Given the description of an element on the screen output the (x, y) to click on. 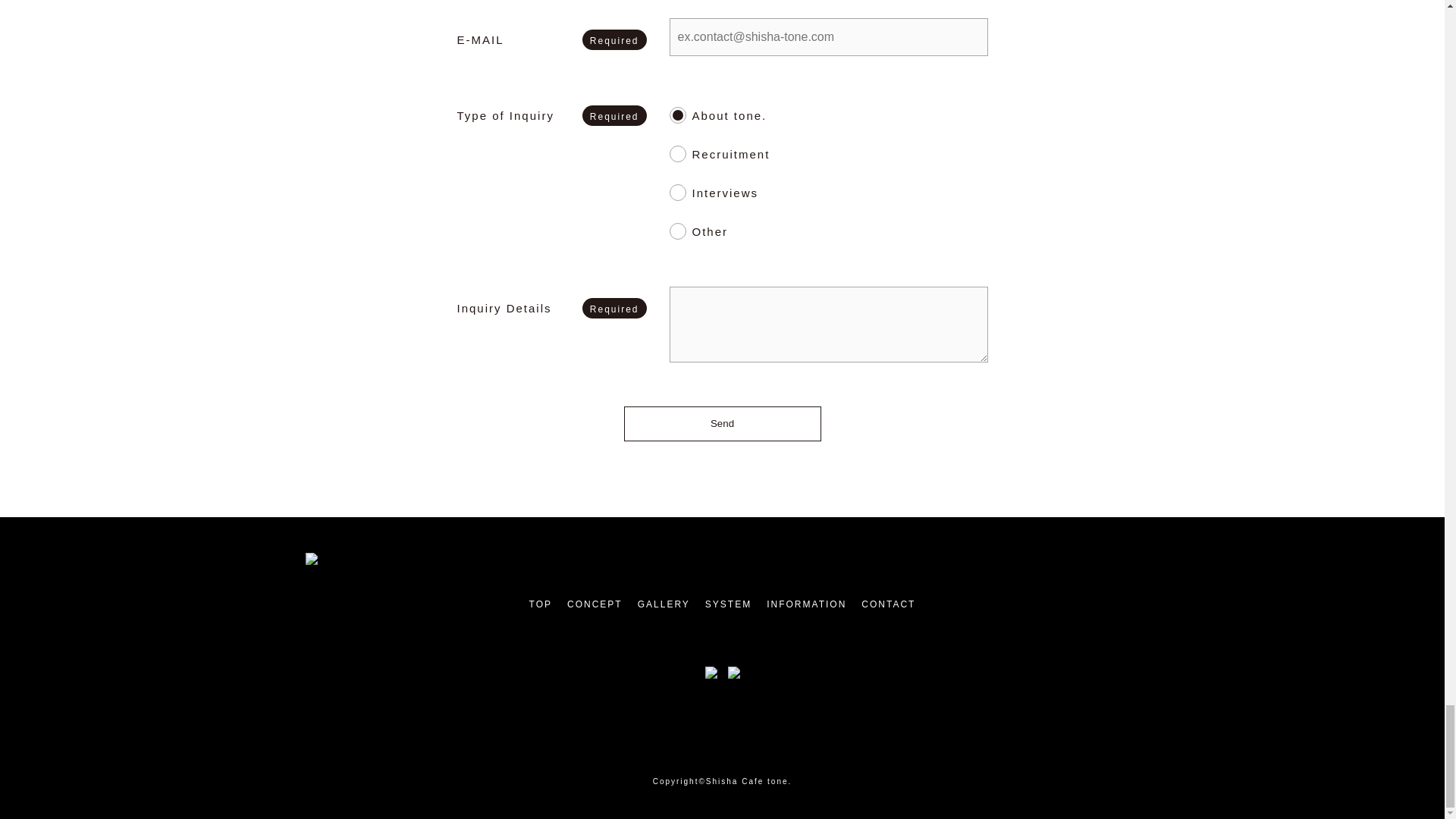
SYSTEM (727, 603)
INFORMATION (806, 603)
CONCEPT (595, 603)
CONTACT (888, 603)
TOP (540, 603)
Send (722, 423)
GALLERY (663, 603)
Send (722, 423)
